Given the description of an element on the screen output the (x, y) to click on. 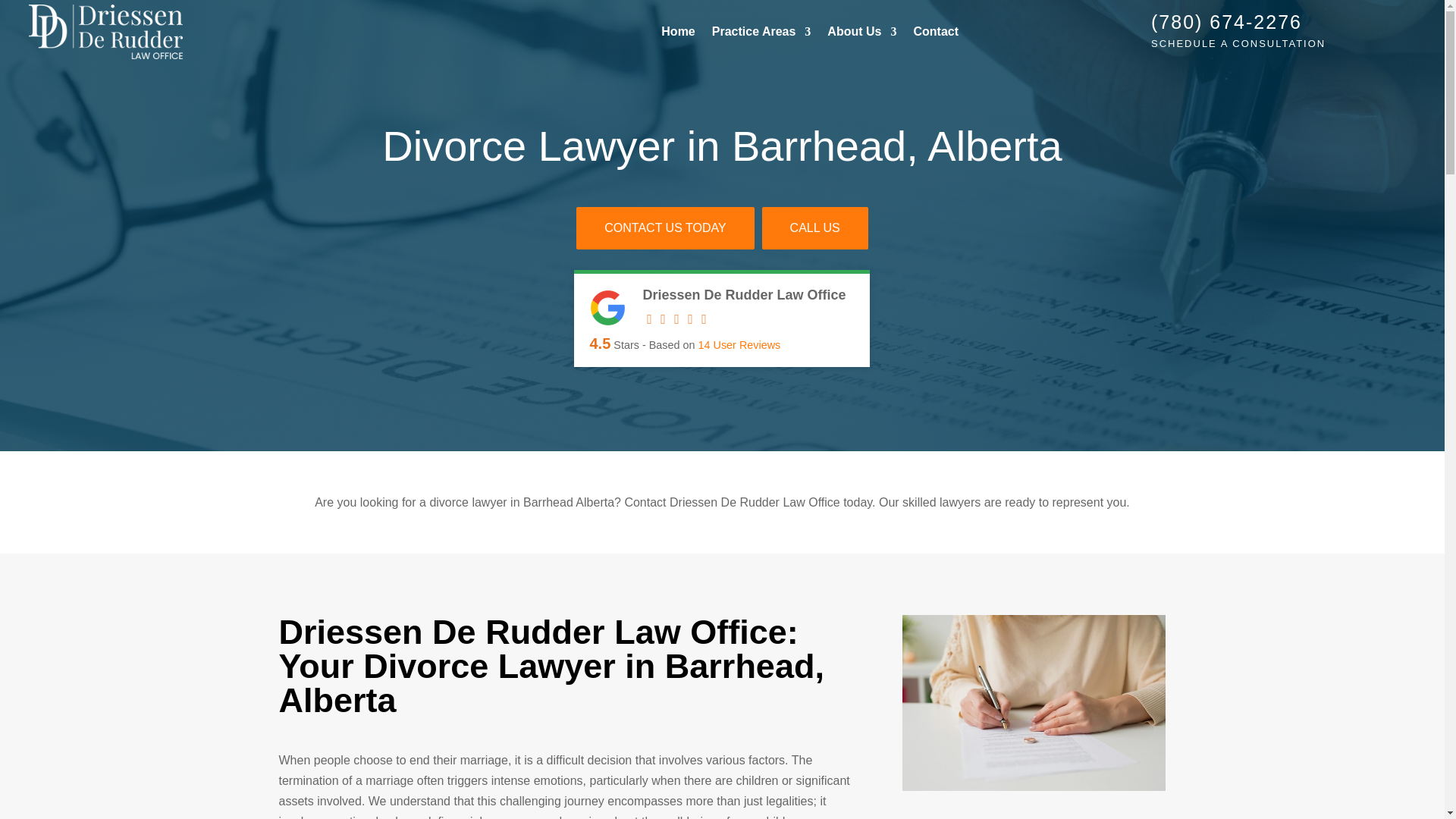
About Us (861, 31)
Practice Areas (760, 31)
User Reviews (738, 345)
CALL US (814, 227)
14 User Reviews (738, 345)
Your Divorce Lawyer in Barrhead (1034, 703)
CONTACT US TODAY (665, 227)
